Given the description of an element on the screen output the (x, y) to click on. 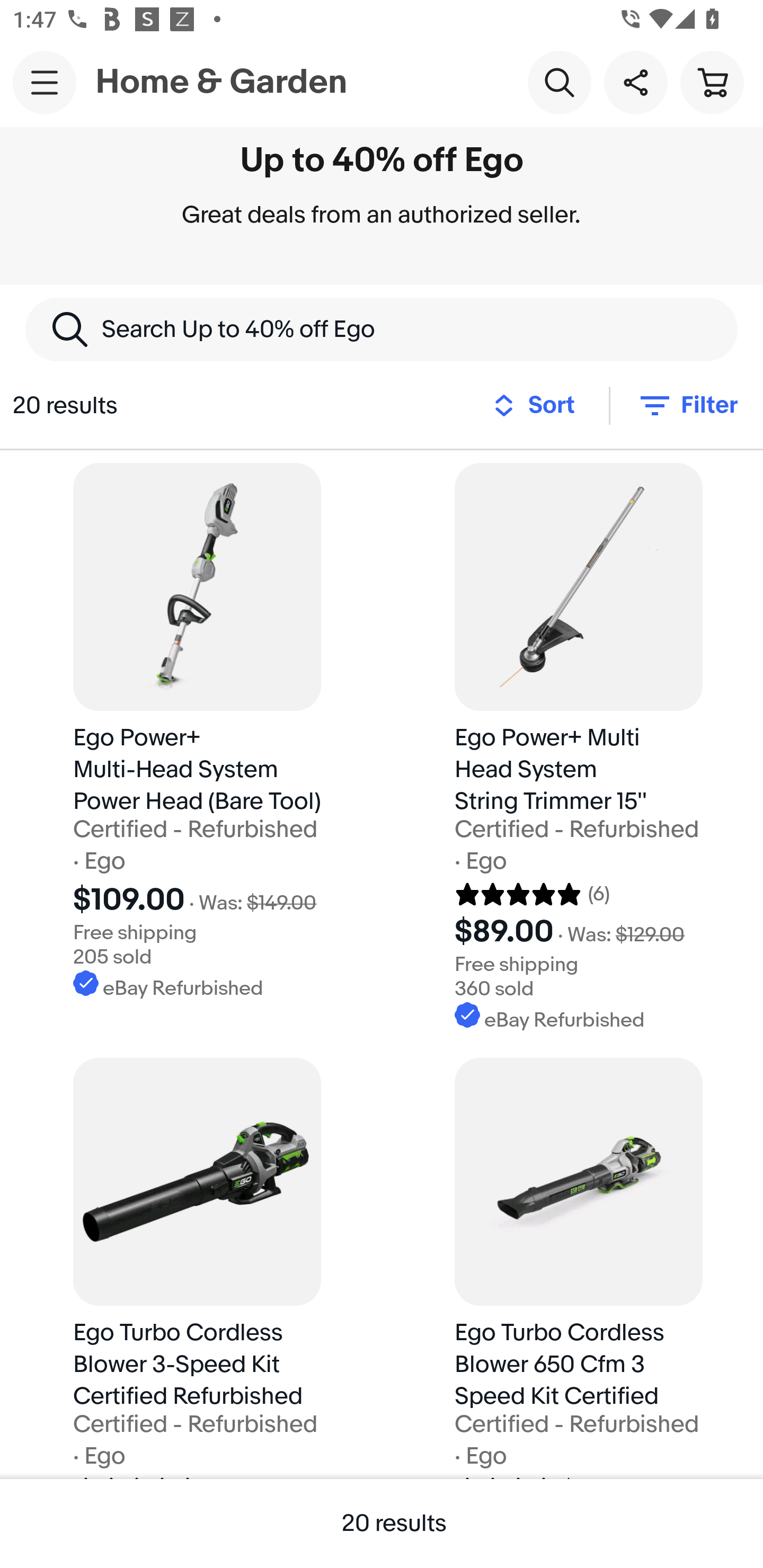
Main navigation, open (44, 82)
Search (559, 81)
Share this item (635, 81)
Cart button shopping cart (711, 81)
Search Up to 40% off Ego (381, 328)
Sort (538, 405)
Filter (686, 405)
